Given the description of an element on the screen output the (x, y) to click on. 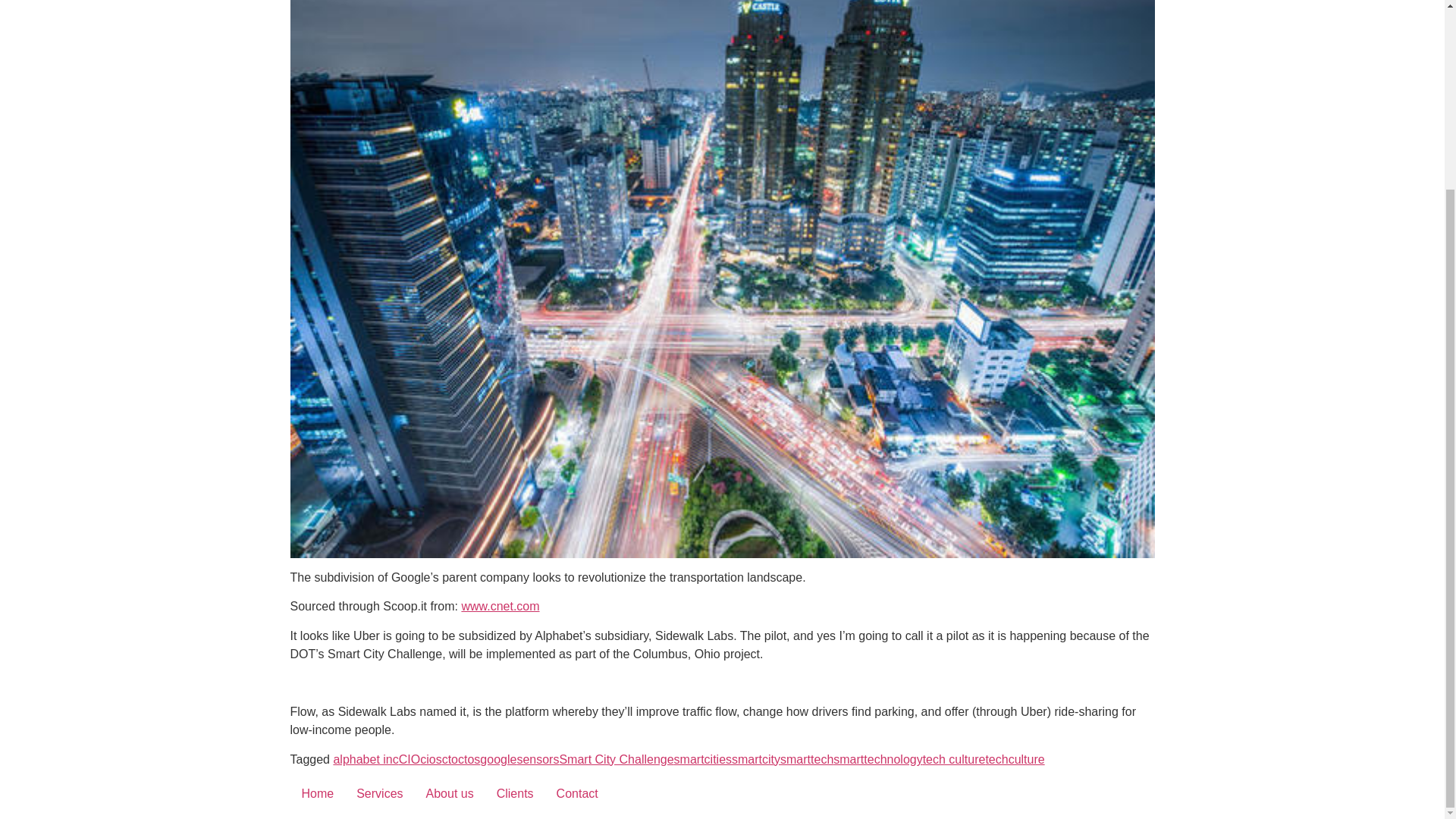
cios (430, 758)
smarttechnology (876, 758)
ctos (469, 758)
tech culture (954, 758)
alphabet inc (365, 758)
techculture (1014, 758)
Contact (577, 793)
smartcity (756, 758)
Home (317, 793)
About us (449, 793)
Services (379, 793)
CIO (409, 758)
google (498, 758)
smartcities (703, 758)
www.cnet.com (499, 605)
